Given the description of an element on the screen output the (x, y) to click on. 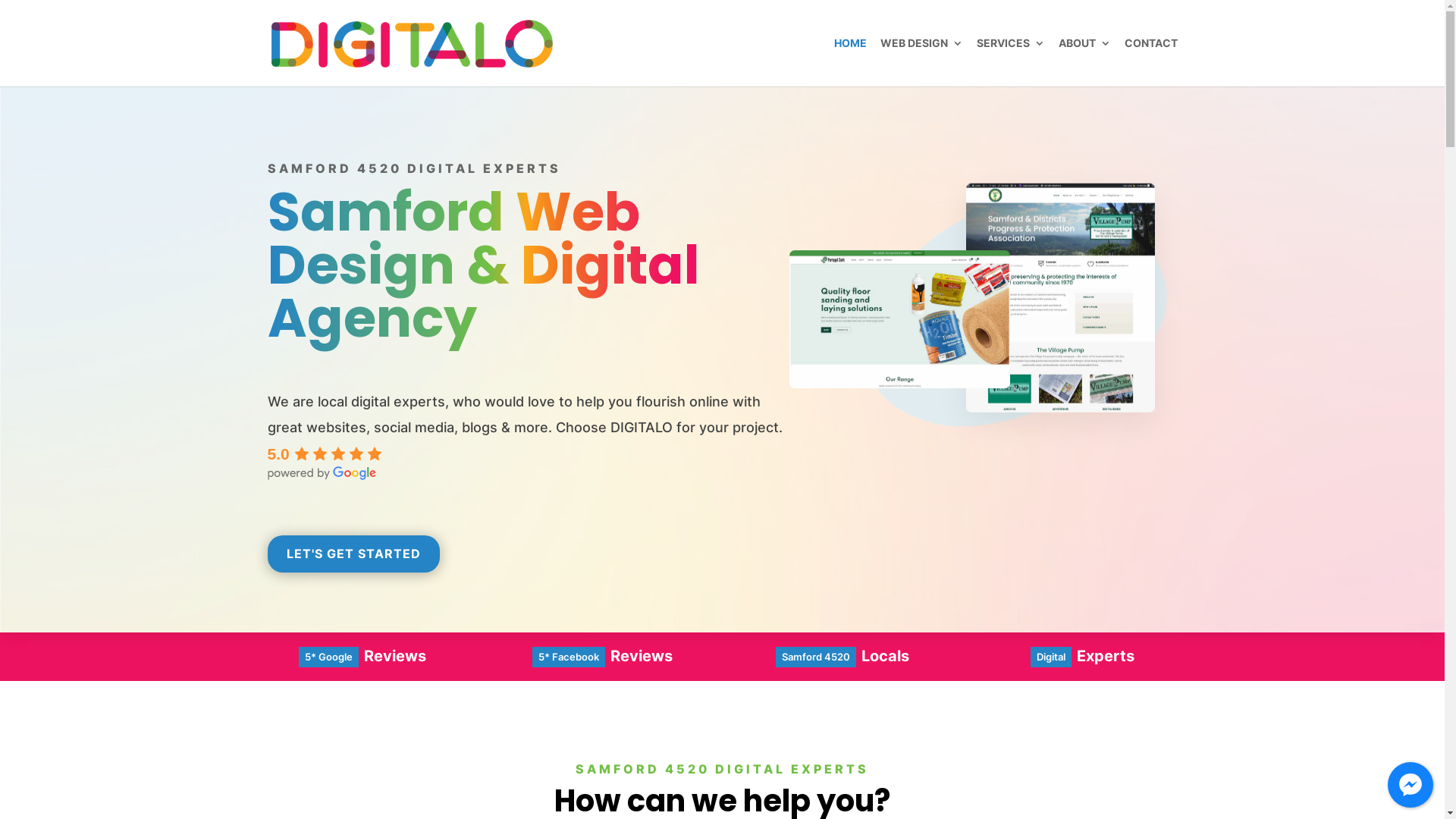
LET'S GET STARTED Element type: text (352, 553)
WEB DESIGN Element type: text (920, 61)
powered by Google Element type: hover (321, 473)
ABOUT Element type: text (1084, 61)
SERVICES Element type: text (1010, 61)
CONTACT Element type: text (1149, 61)
HOME Element type: text (850, 61)
